Given the description of an element on the screen output the (x, y) to click on. 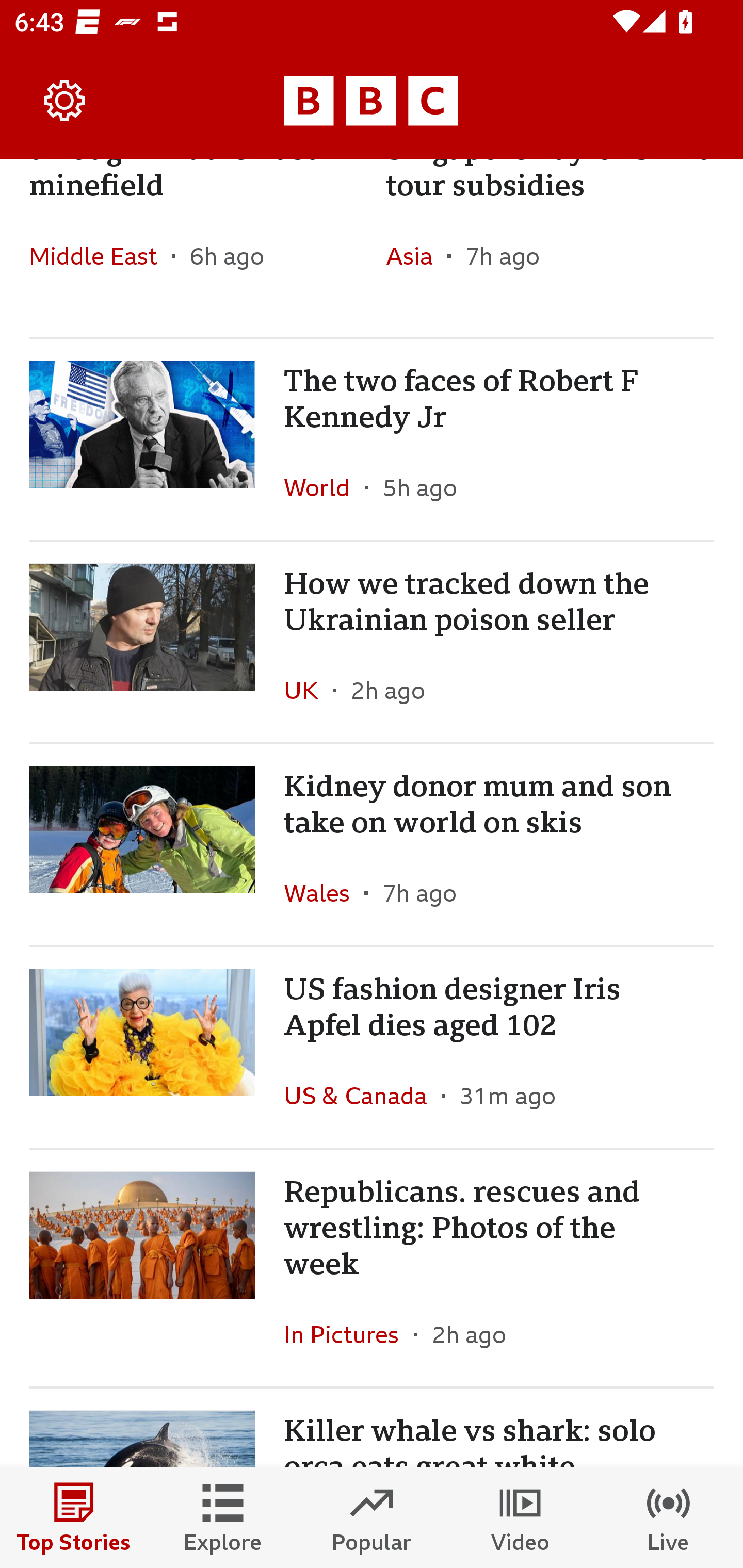
Settings (64, 100)
Middle East In the section Middle East (99, 255)
Asia In the section Asia (416, 255)
World In the section World (323, 487)
UK In the section UK (307, 689)
Wales In the section Wales (323, 892)
US & Canada In the section US & Canada (362, 1094)
In Pictures In the section In Pictures (348, 1334)
Explore (222, 1517)
Popular (371, 1517)
Video (519, 1517)
Live (668, 1517)
